Given the description of an element on the screen output the (x, y) to click on. 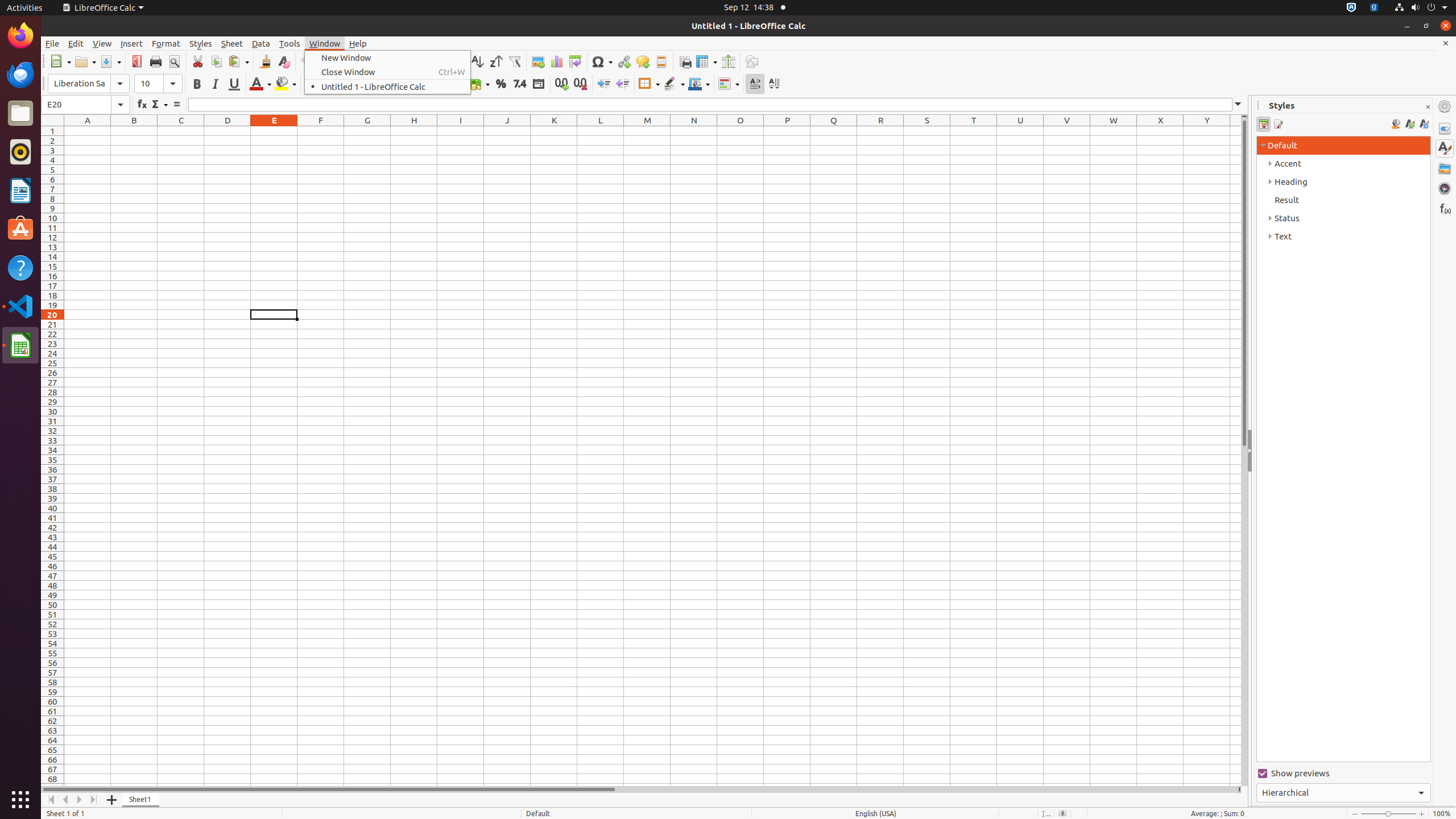
Save Element type: push-button (109, 61)
Visual Studio Code Element type: push-button (20, 306)
Print Preview Element type: toggle-button (173, 61)
Pivot Table Element type: push-button (574, 61)
O1 Element type: table-cell (740, 130)
